Given the description of an element on the screen output the (x, y) to click on. 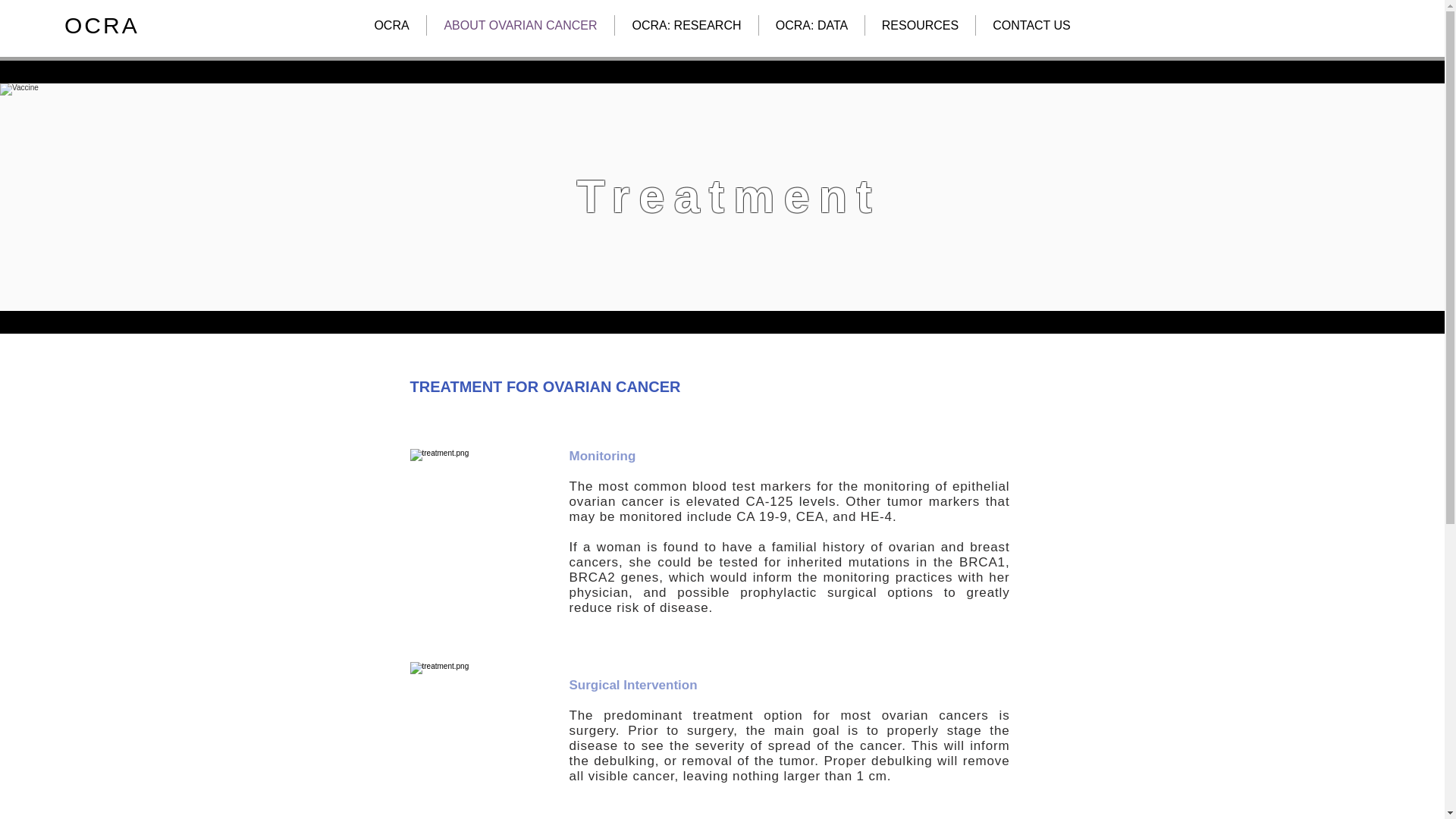
CONTACT US (1031, 25)
OCRA (101, 25)
ABOUT OVARIAN CANCER (520, 25)
OCRA: DATA (811, 25)
OCRA: RESEARCH (686, 25)
RESOURCES (919, 25)
OCRA (391, 25)
